Given the description of an element on the screen output the (x, y) to click on. 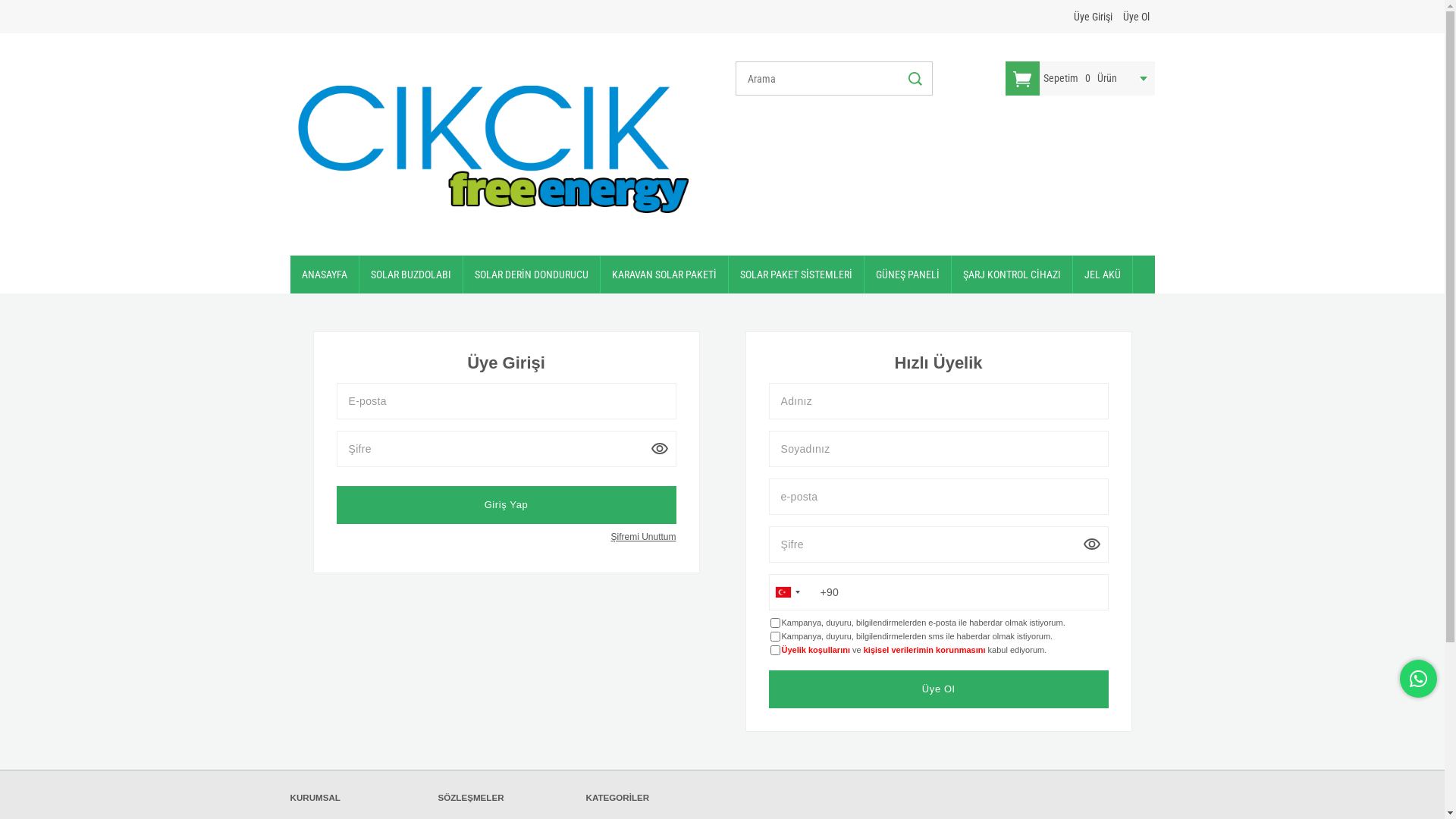
SOLAR BUZDOLABI Element type: text (410, 274)
ANASAYFA Element type: text (323, 274)
Ara Element type: text (912, 78)
Ara Element type: hover (912, 78)
